Given the description of an element on the screen output the (x, y) to click on. 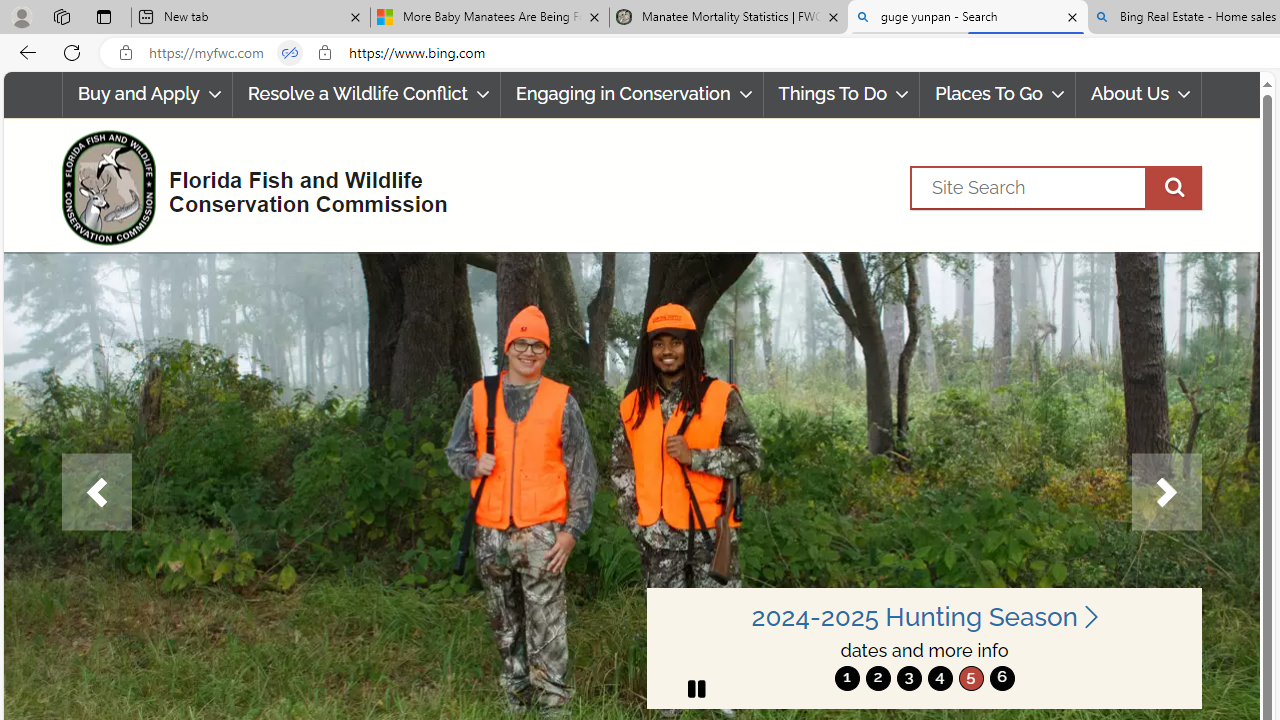
Buy and Apply (146, 94)
execute site search (1173, 187)
Manatee Mortality Statistics | FWC (729, 17)
6 (1002, 678)
Resolve a Wildlife Conflict (365, 94)
Next (1166, 491)
3 (908, 678)
5 (970, 678)
Previous (96, 491)
move to slide 6 (1002, 678)
move to slide 5 (970, 678)
About Us (1139, 94)
Buy and Apply (146, 94)
